Given the description of an element on the screen output the (x, y) to click on. 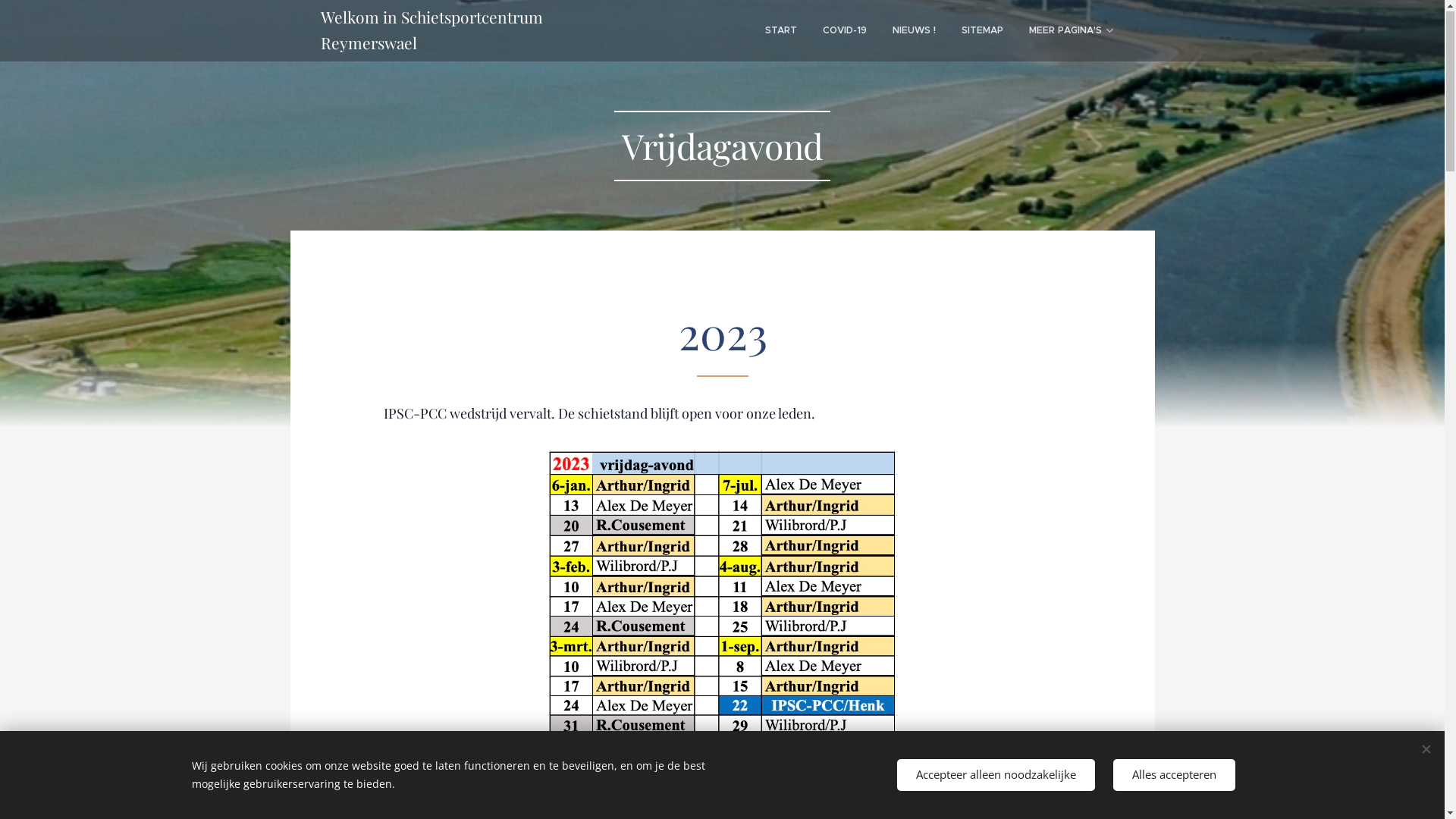
Welkom in Schietsportcentrum Reymerswael Element type: text (479, 30)
COVID-19 Element type: text (844, 31)
SITEMAP Element type: text (981, 31)
Alles accepteren Element type: text (1174, 774)
Accepteer alleen noodzakelijke Element type: text (995, 774)
MEER PAGINA'S Element type: text (1070, 31)
NIEUWS ! Element type: text (913, 31)
START Element type: text (780, 31)
